Given the description of an element on the screen output the (x, y) to click on. 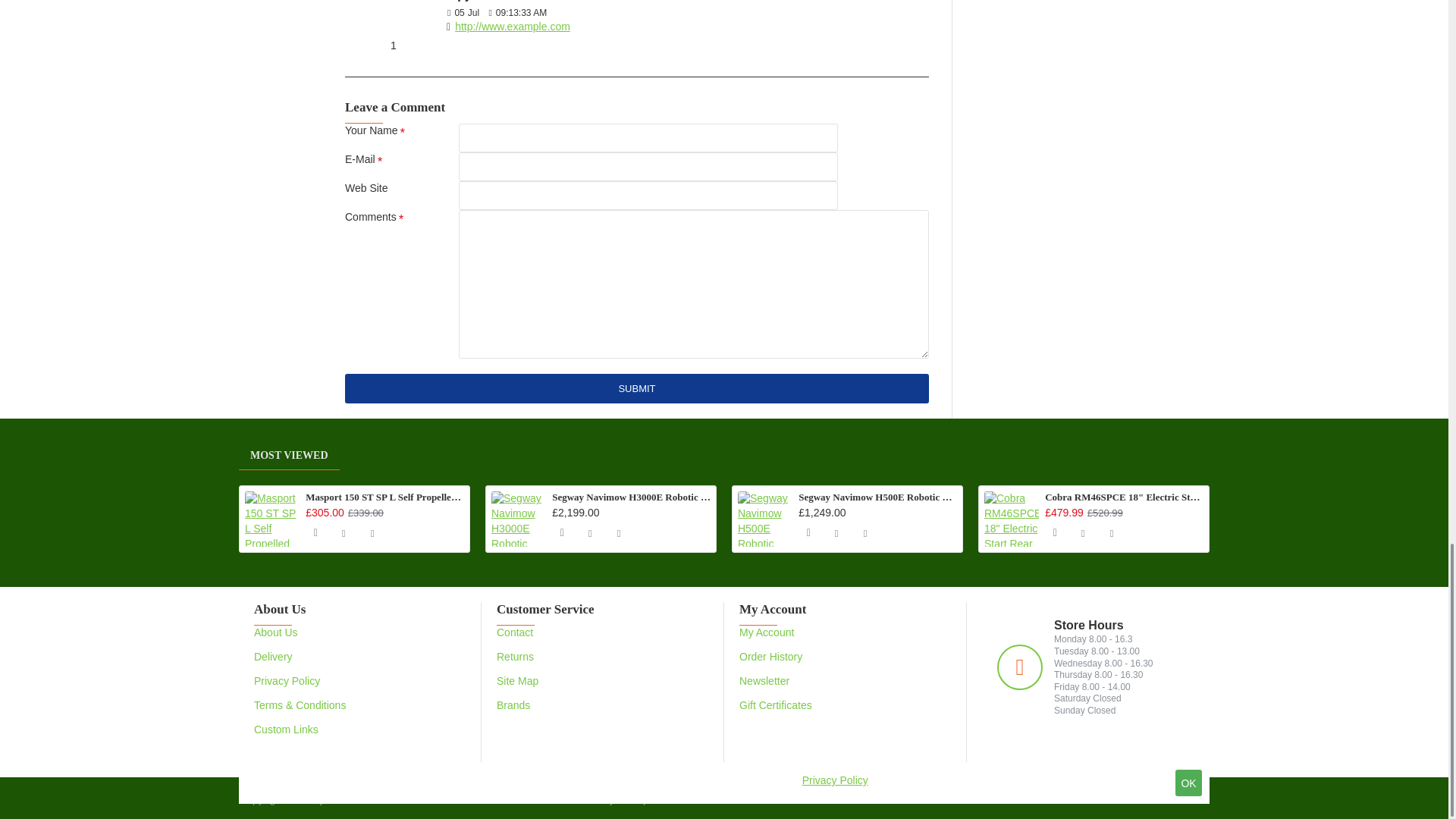
Compare this Product (372, 532)
Segway Navimow H500E Robotic Mower (765, 518)
Add to Cart (807, 532)
Add to Wish List (589, 532)
Add to Cart (314, 532)
Compare this Product (618, 532)
Add to Wish List (343, 532)
Segway Navimow H3000E Robotic Mower (519, 518)
Add to Cart (561, 532)
Masport 150 ST SP L Self Propelled Lawnmower (271, 518)
